Given the description of an element on the screen output the (x, y) to click on. 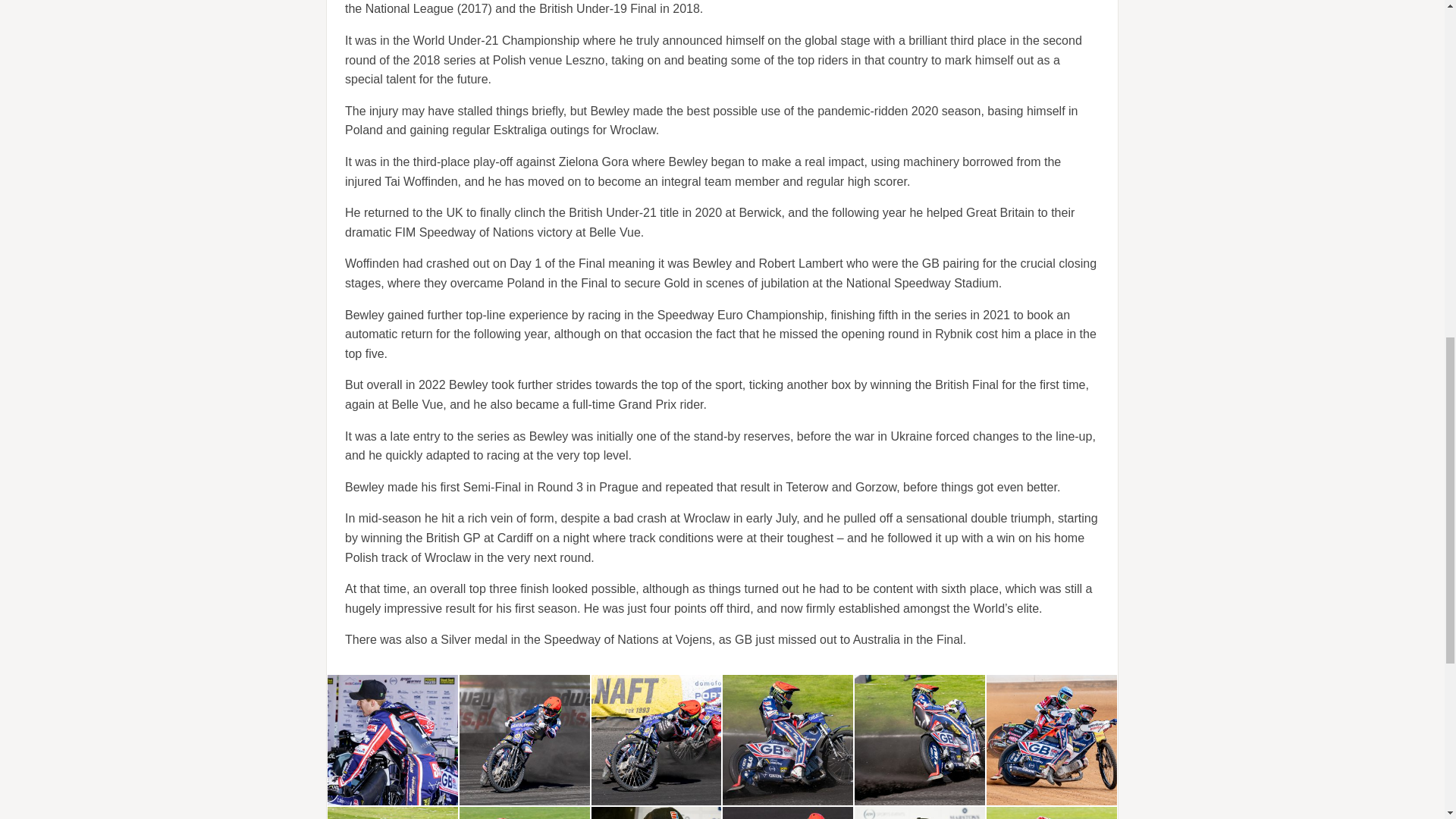
035 (656, 812)
00117 (1051, 739)
025 (919, 812)
00094 (524, 812)
030 (787, 812)
141 (656, 739)
118 (919, 739)
Photo 22 04 2023 13 56 19 (392, 739)
00021 (1051, 812)
120 (787, 739)
117 (392, 812)
145 (524, 739)
